Given the description of an element on the screen output the (x, y) to click on. 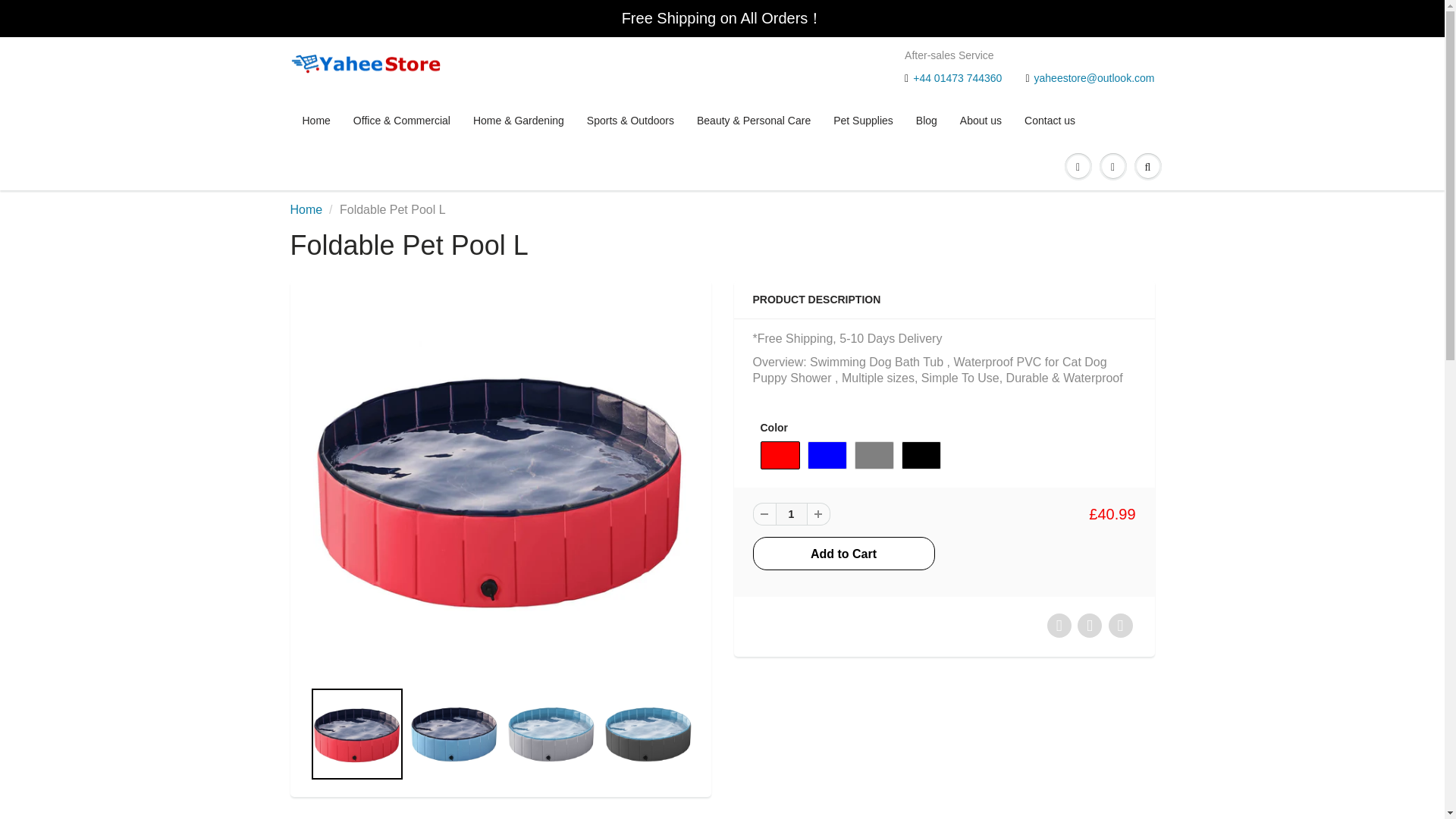
Add to Cart (843, 553)
Blog (926, 120)
1 (790, 513)
Contact us (1049, 120)
Pet Supplies (863, 120)
Home (316, 120)
Home (305, 209)
Home (305, 209)
About us (981, 120)
